Given the description of an element on the screen output the (x, y) to click on. 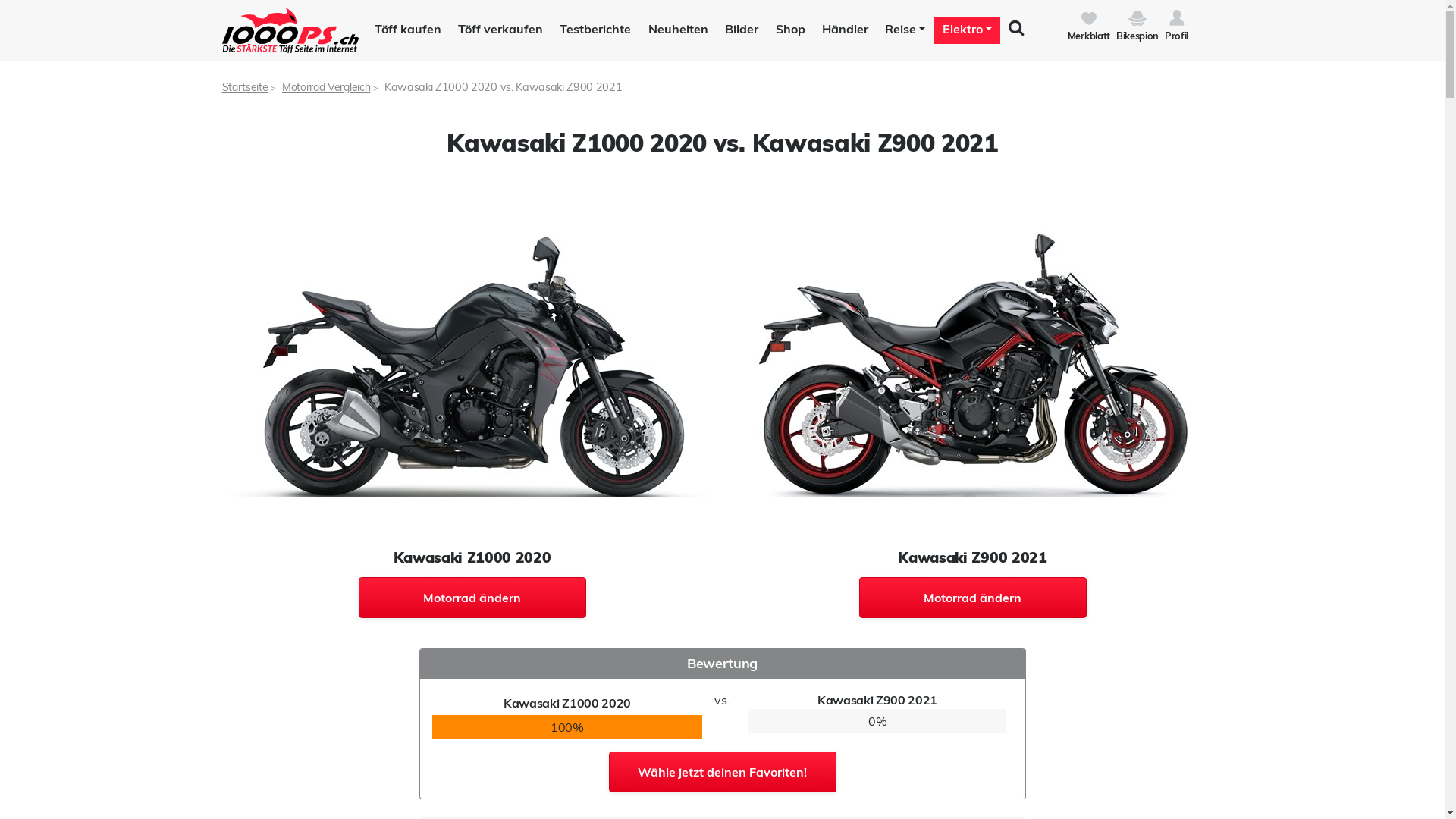
Motorrad Vergleich Element type: text (326, 87)
Suche Element type: hover (1016, 29)
Neuheiten Element type: text (674, 29)
Startseite Element type: text (244, 87)
Testberichte Element type: text (592, 29)
Profil Element type: text (1176, 23)
Profil Element type: hover (1176, 17)
Elektro Element type: text (965, 28)
Shop Element type: text (787, 29)
Reise Element type: text (902, 29)
Merkblatt Element type: text (1091, 23)
Bikespion Element type: text (1140, 23)
Kawasaki Z1000 2020 Element type: hover (471, 363)
Merkblatt Element type: hover (1088, 17)
Bikespion Element type: hover (1137, 17)
Kawasaki Z1000 2020 Element type: hover (471, 363)
Kawasaki Z900 2021 Element type: hover (971, 363)
Kawasaki Z900 2021 Element type: hover (971, 363)
Bilder Element type: text (738, 29)
